Given the description of an element on the screen output the (x, y) to click on. 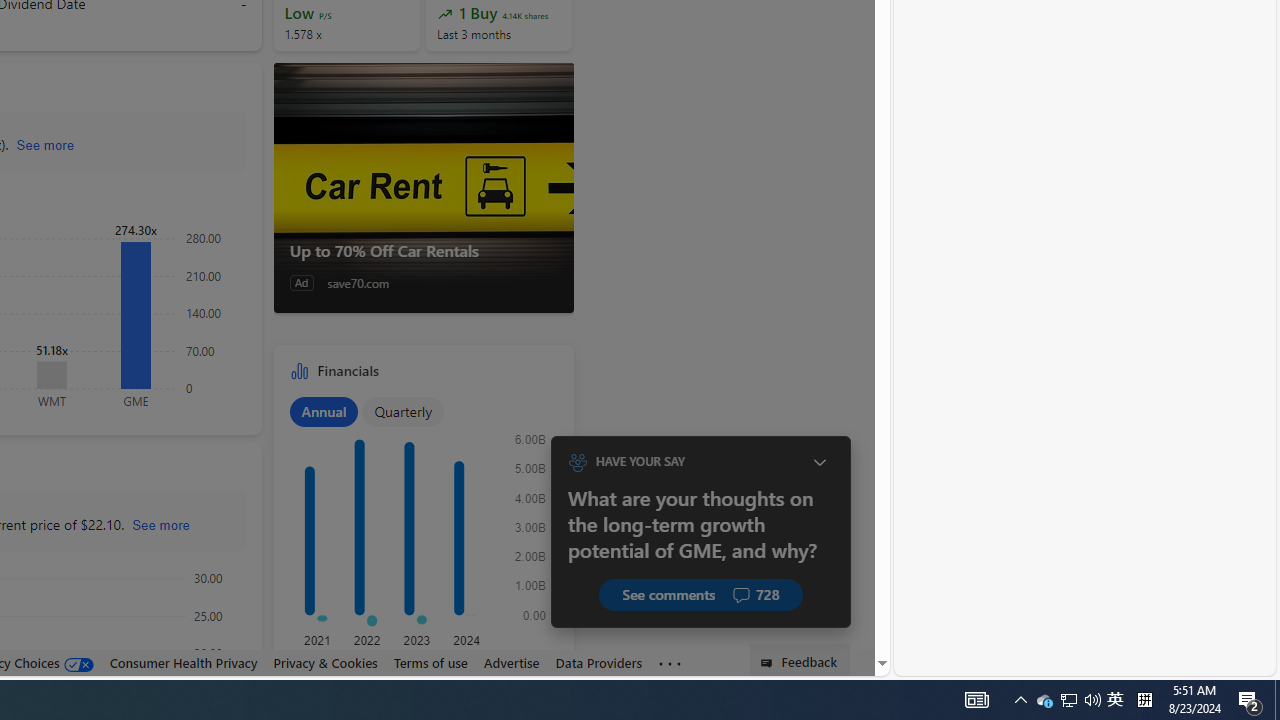
Class: chartSvg (419, 531)
Class: oneFooter_seeMore-DS-EntryPoint1-1 (669, 663)
Annual (323, 411)
Consumer Health Privacy (183, 663)
Ad (301, 282)
Data Providers (598, 662)
Up to 70% Off Car Rentals (422, 188)
Up to 70% Off Car Rentals (423, 250)
See more (669, 664)
Terms of use (430, 662)
Class: chartOuter-DS-EntryPoint1-1 (419, 533)
Class: feedback_link_icon-DS-EntryPoint1-1 (770, 663)
Feedback (799, 659)
Advertise (511, 662)
